Given the description of an element on the screen output the (x, y) to click on. 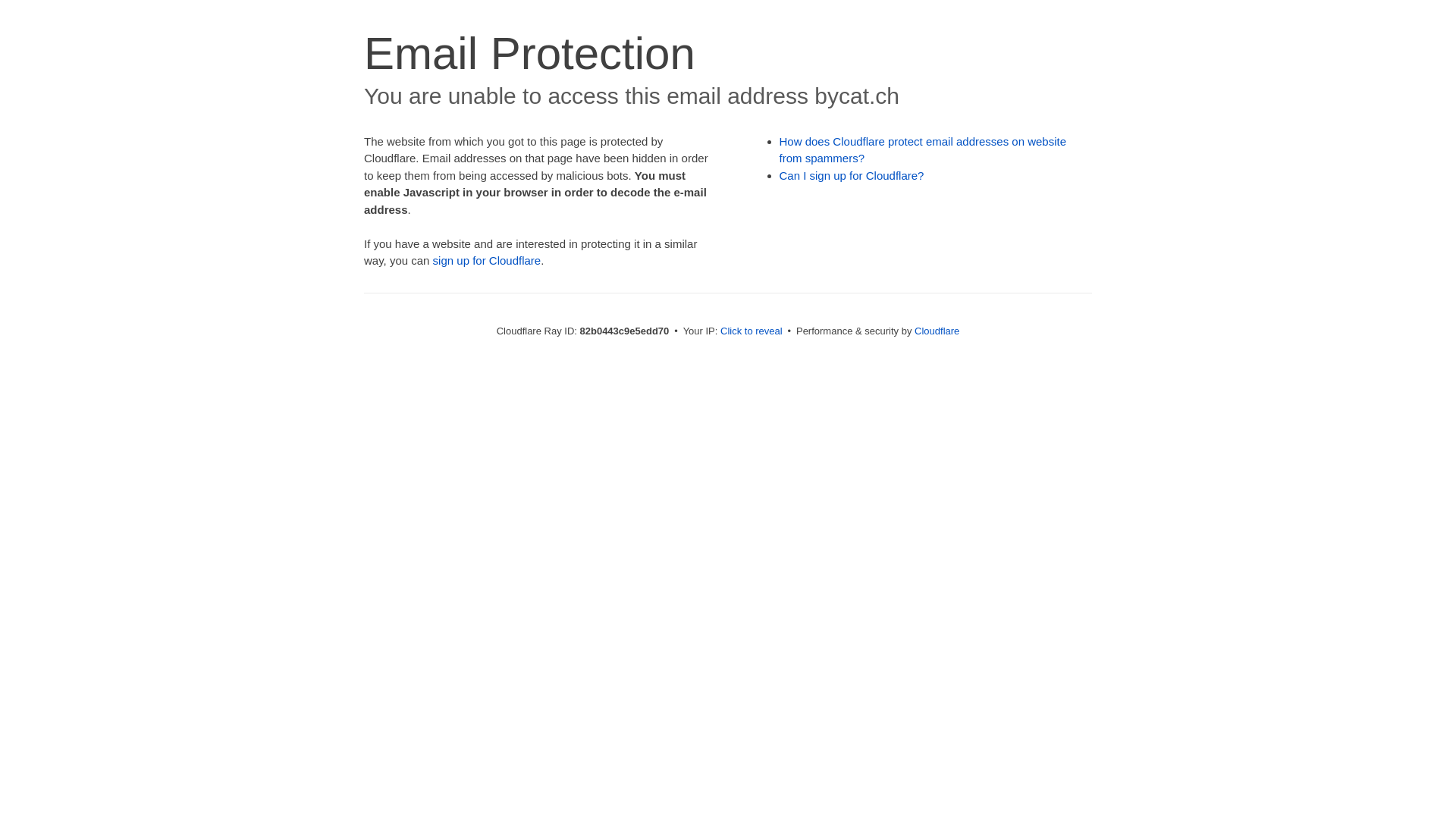
sign up for Cloudflare Element type: text (487, 260)
Can I sign up for Cloudflare? Element type: text (851, 175)
Click to reveal Element type: text (751, 330)
Cloudflare Element type: text (936, 330)
